Given the description of an element on the screen output the (x, y) to click on. 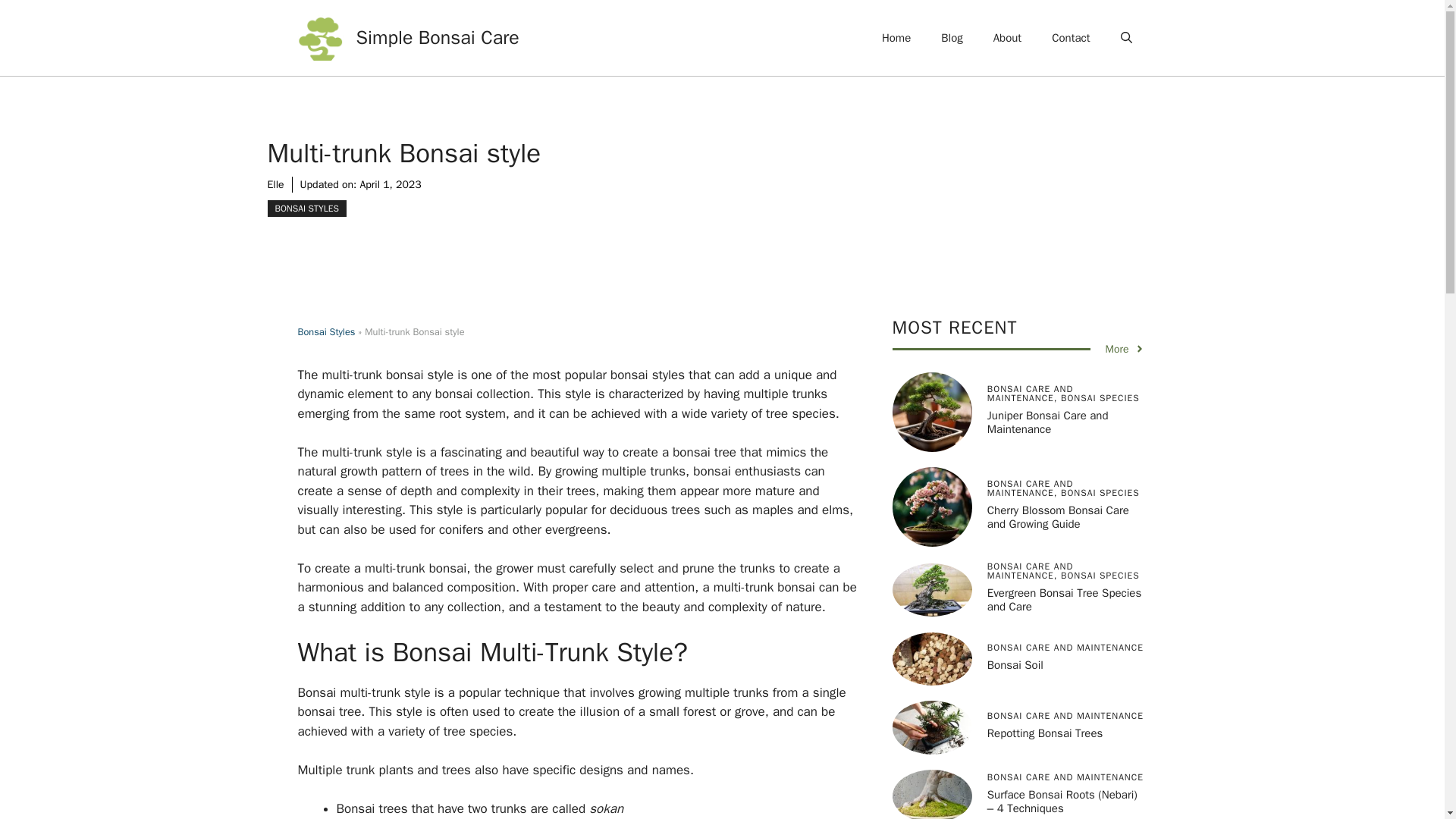
About (1007, 37)
Simple Bonsai Care (437, 37)
Home (896, 37)
Blog (951, 37)
Contact (1070, 37)
Evergreen Bonsai Tree Species and Care (1064, 599)
Cherry Blossom Bonsai Care and Growing Guide (1058, 516)
Elle (274, 184)
Juniper Bonsai Care and Maintenance (1047, 421)
More (1124, 349)
